Given the description of an element on the screen output the (x, y) to click on. 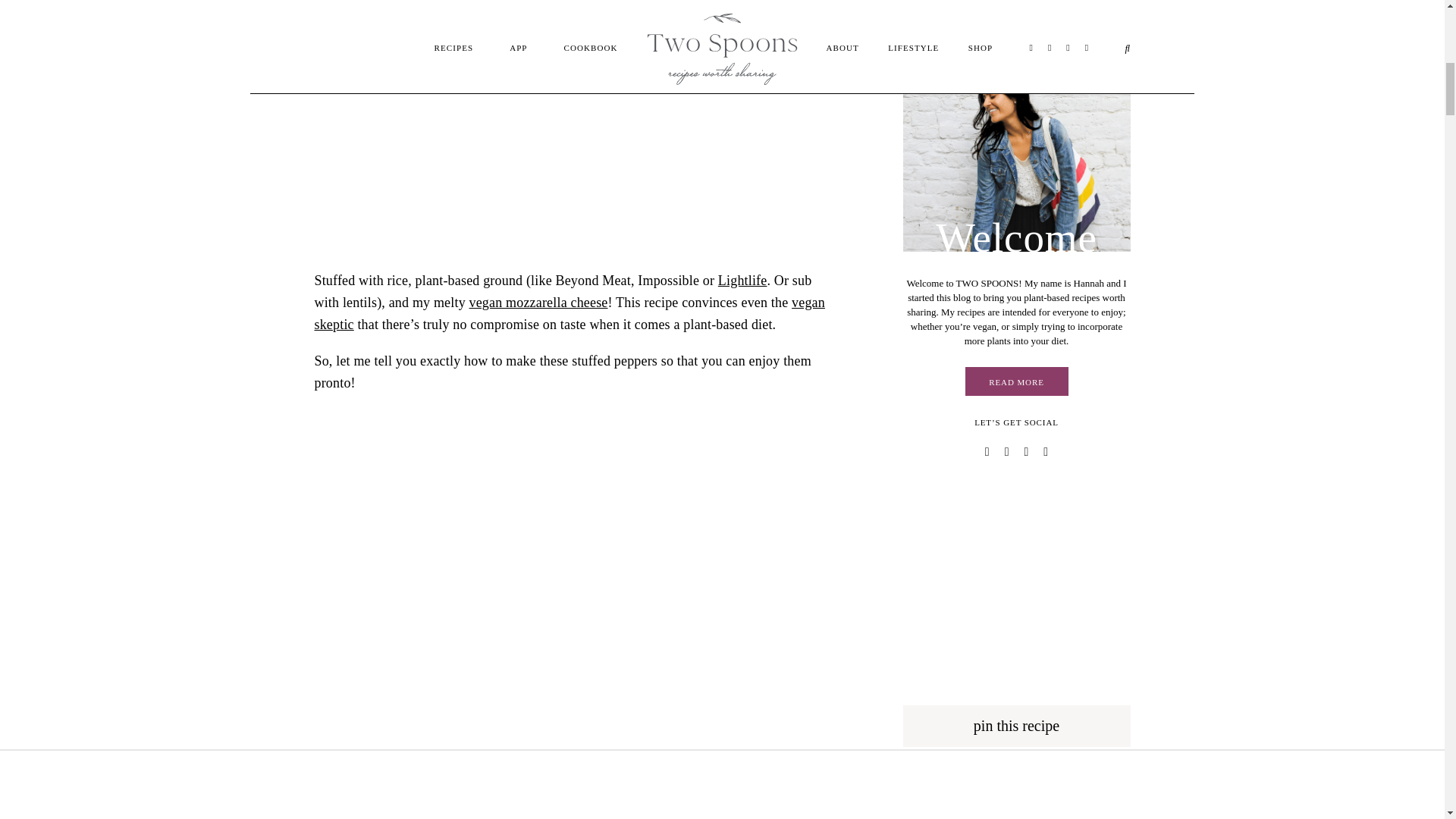
Lightlife (742, 280)
vegan skeptic (569, 313)
vegan mozzarella cheese (538, 302)
